Given the description of an element on the screen output the (x, y) to click on. 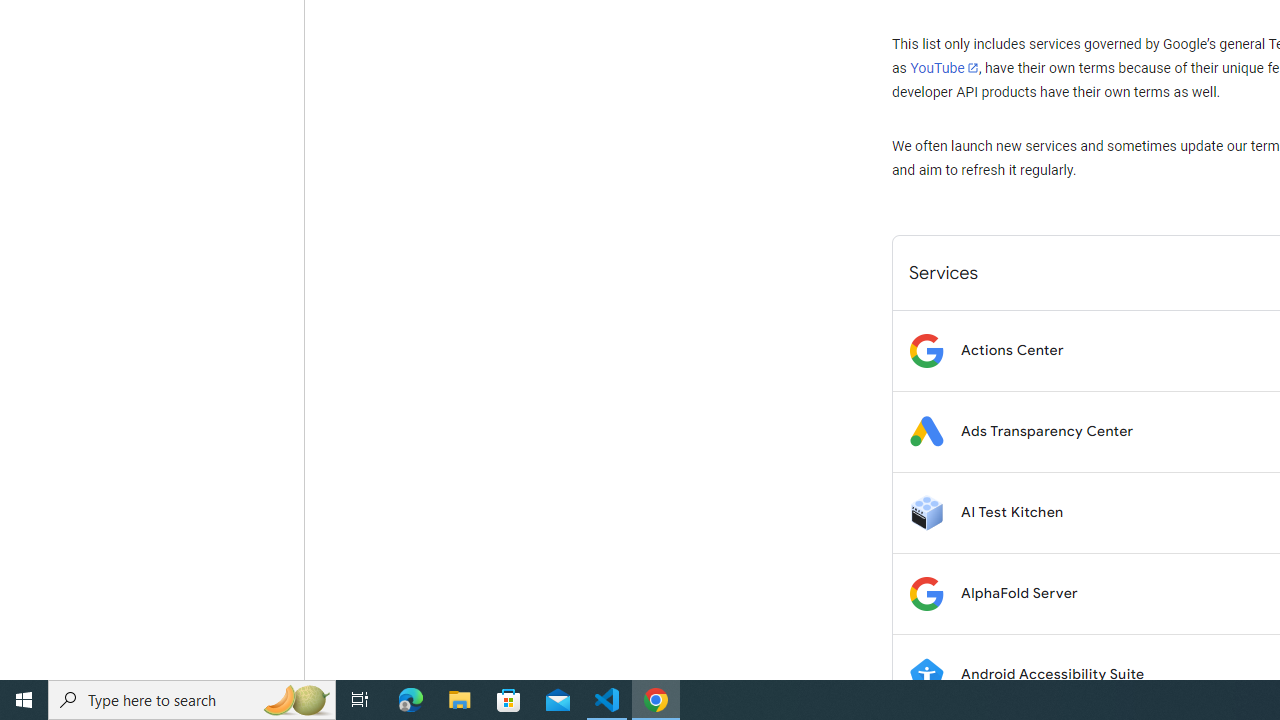
Logo for Actions Center (926, 349)
Logo for AI Test Kitchen (926, 512)
YouTube (944, 68)
Logo for Ads Transparency Center (926, 431)
Logo for AlphaFold Server (926, 593)
Logo for Android Accessibility Suite (926, 673)
